Given the description of an element on the screen output the (x, y) to click on. 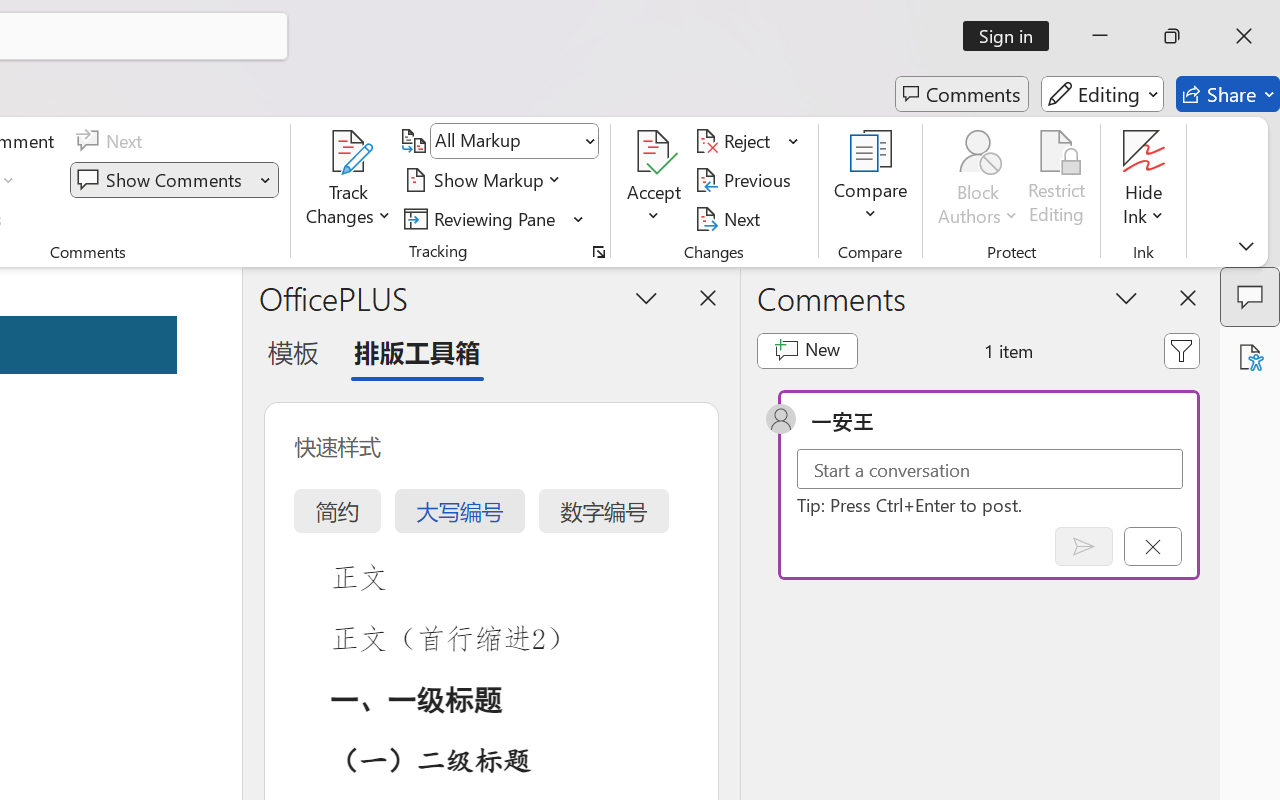
Block Authors (977, 179)
Hide Ink (1144, 151)
New comment (806, 350)
Track Changes (349, 179)
Reject (747, 141)
Reject and Move to Next (735, 141)
Reviewing Pane (483, 218)
Cancel (1152, 546)
Accept (653, 179)
Next (730, 218)
Start a conversation (990, 468)
Show Comments (162, 179)
